Given the description of an element on the screen output the (x, y) to click on. 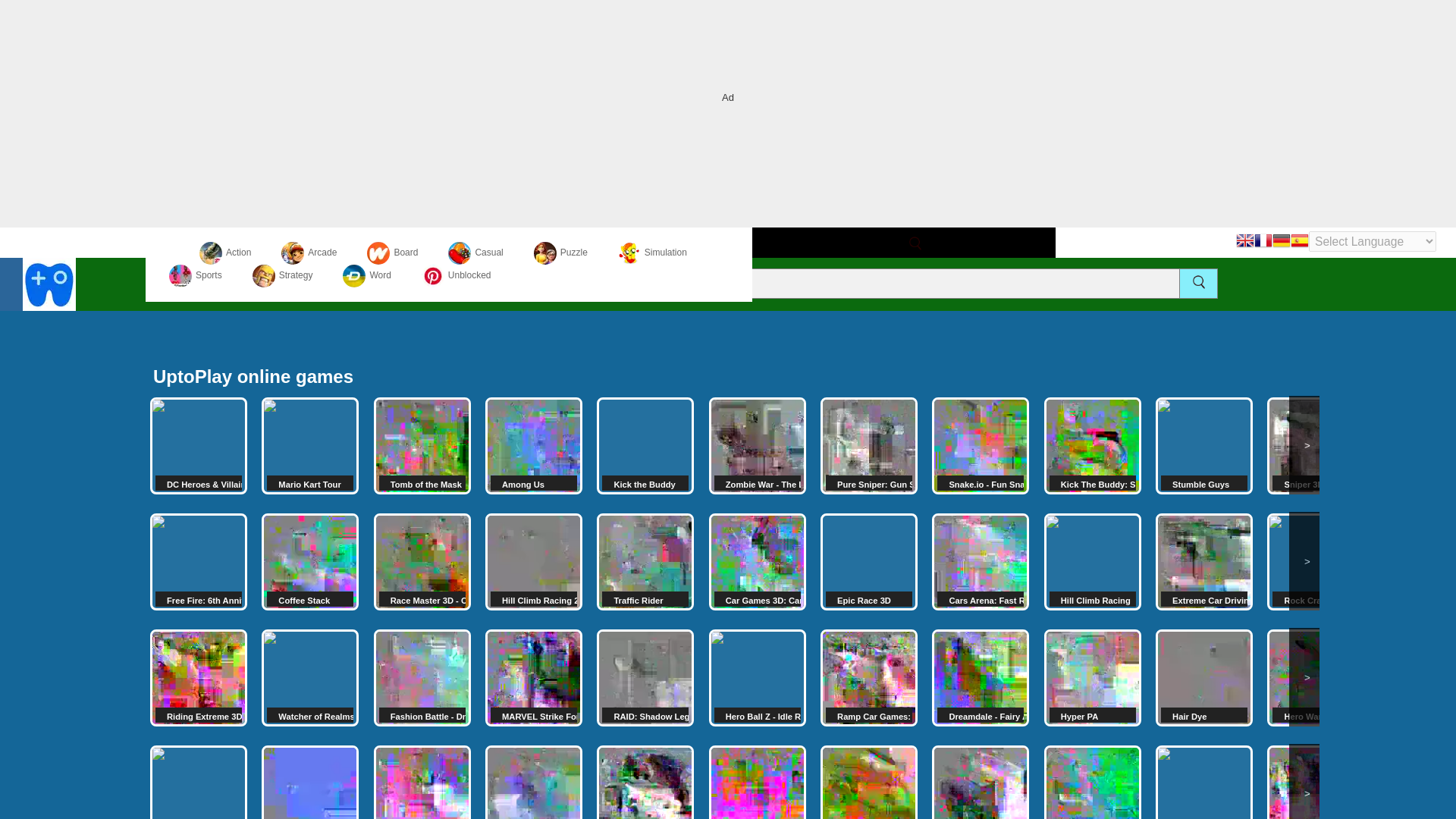
Casual games online (475, 252)
Simulation (652, 252)
Word (366, 275)
Mario Kart Tour (310, 445)
Snake.io - Fun Snake .io Games (980, 445)
Puzzle games online (561, 252)
Sports (195, 275)
Strategy games online (282, 275)
Arcade (308, 252)
Casual (475, 252)
Unblocked Games Premium (457, 275)
Free Fire: 6th Anniversary (198, 561)
Unblocked (457, 275)
Simulation games online (652, 252)
Cars Arena: Fast Race 3D (980, 561)
